Given the description of an element on the screen output the (x, y) to click on. 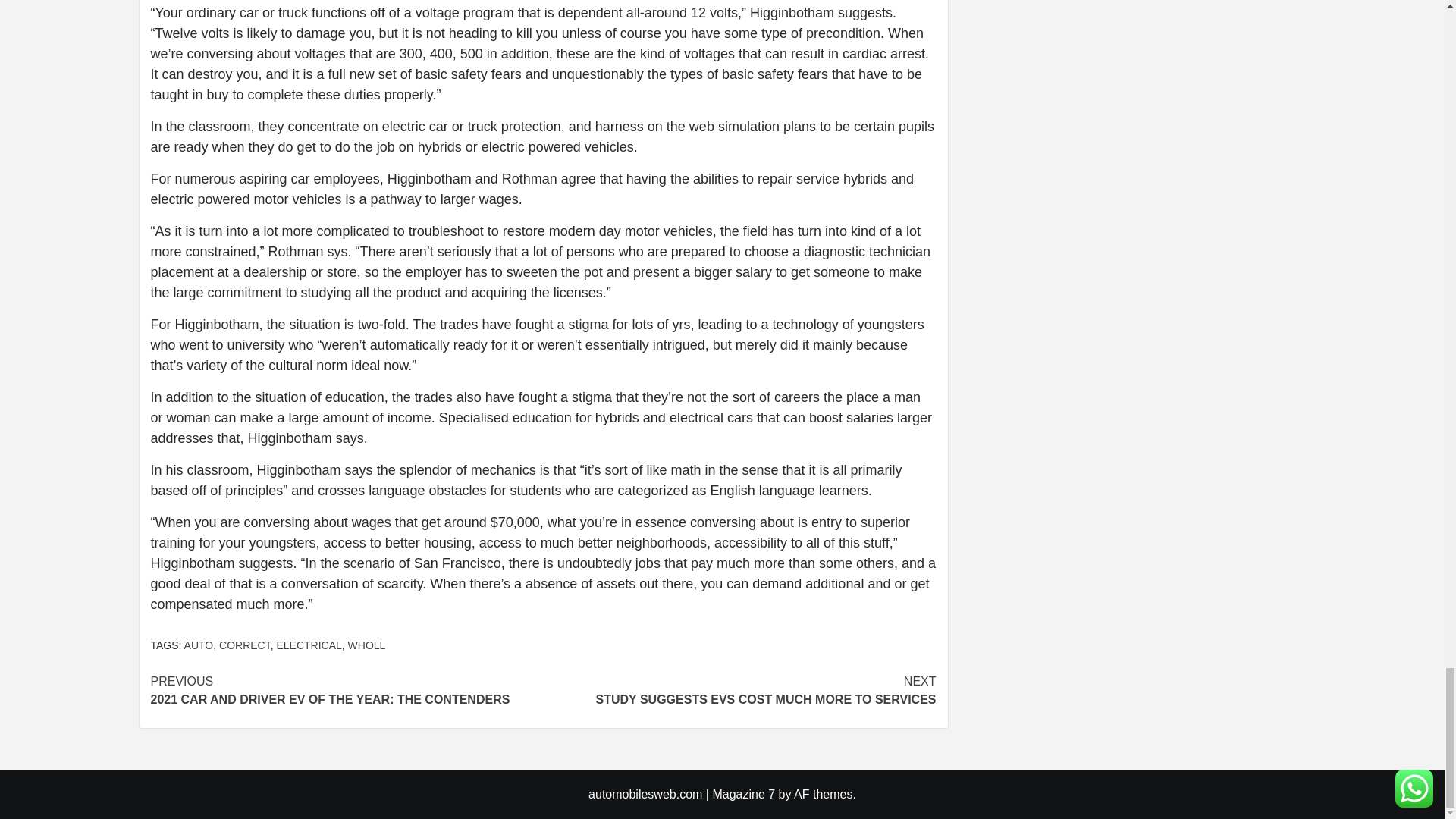
WHOLL (739, 690)
ELECTRICAL (346, 690)
CORRECT (366, 645)
AUTO (308, 645)
